Given the description of an element on the screen output the (x, y) to click on. 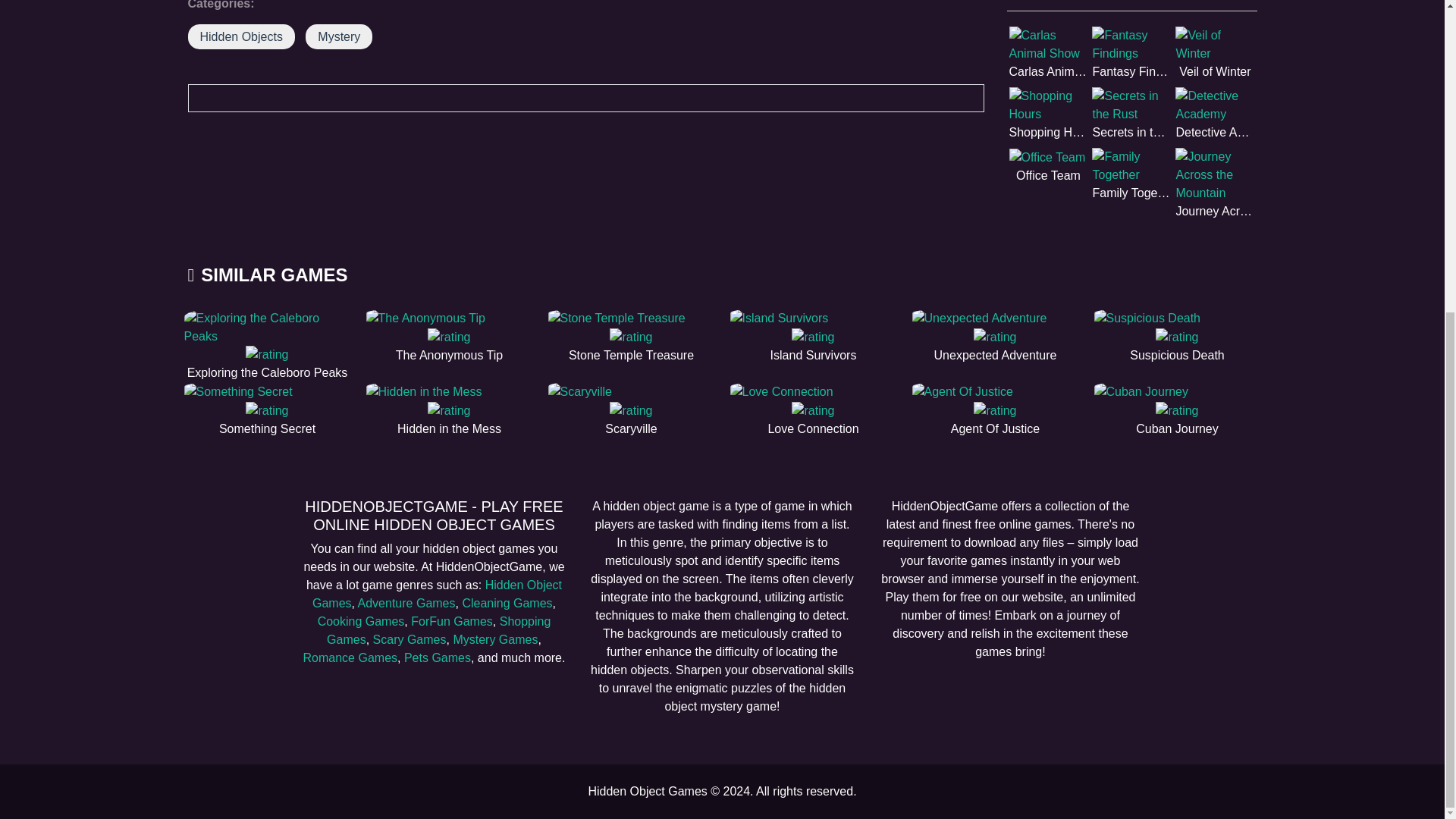
Stone Temple Treasure (630, 337)
Island Survivors (812, 337)
All Adventure Games (406, 603)
Exploring the Caleboro Peaks (266, 346)
Carlas Animal Show (1048, 53)
Journey Across the Mountain (1213, 184)
All ForFun Games (451, 621)
Secrets in the Rust (1131, 113)
Veil of Winter (1213, 53)
Shopping Hours (1048, 113)
Fantasy Findings (1131, 53)
Unexpected Adventure (994, 337)
All Cleaning Games (506, 603)
Detective Academy (1213, 113)
All Shopping Games (438, 630)
